Given the description of an element on the screen output the (x, y) to click on. 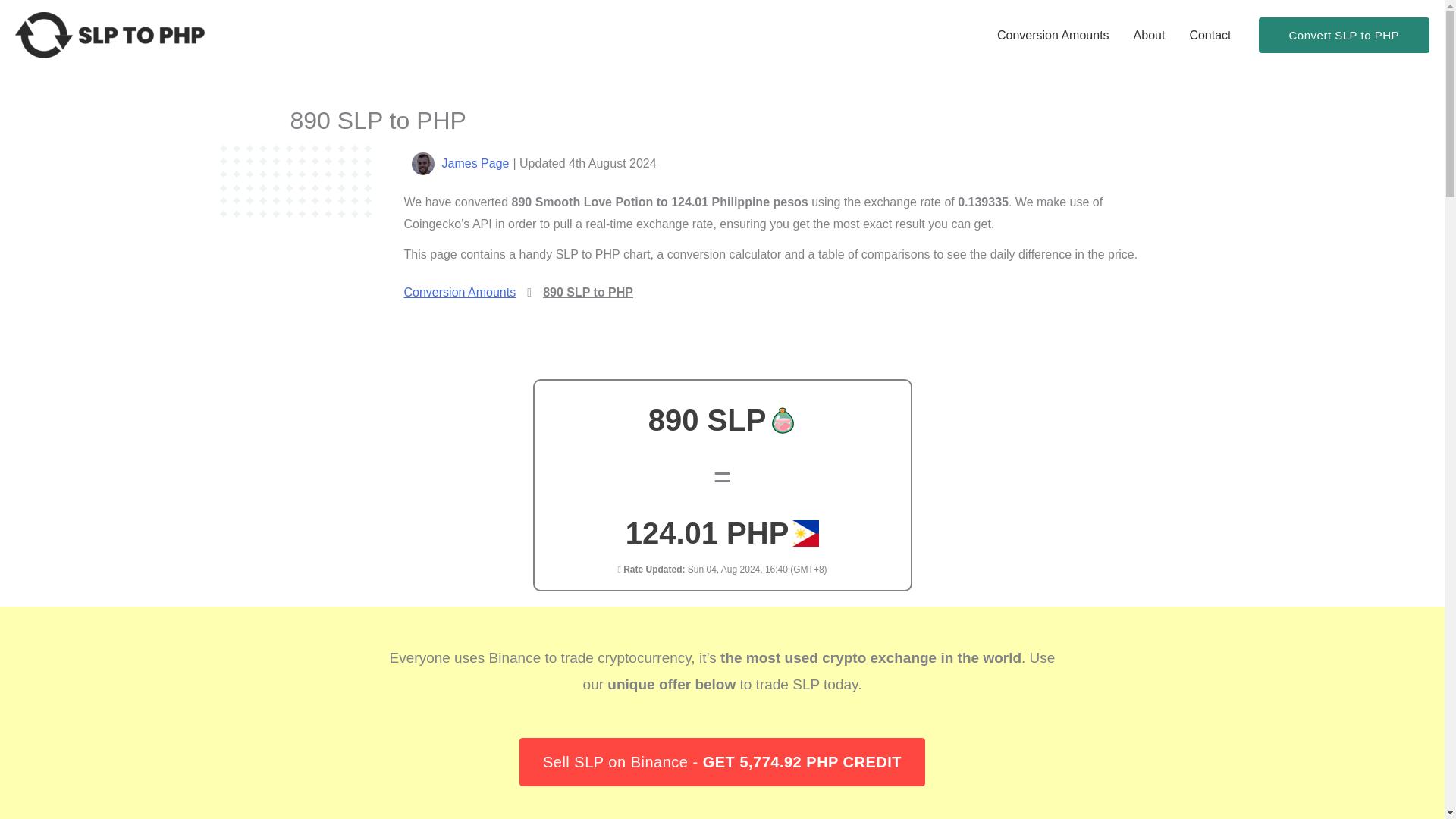
James Page (474, 163)
Sell SLP on Binance - GET 5,774.92 PHP CREDIT (721, 761)
Convert SLP to PHP (1344, 35)
Conversion Amounts (1053, 35)
About (1149, 35)
Conversion Amounts (459, 292)
Conversion Amounts (459, 292)
philippines-flag (805, 533)
890 SLP to PHP (588, 292)
Contact (1209, 35)
slp-icon (783, 420)
